Given the description of an element on the screen output the (x, y) to click on. 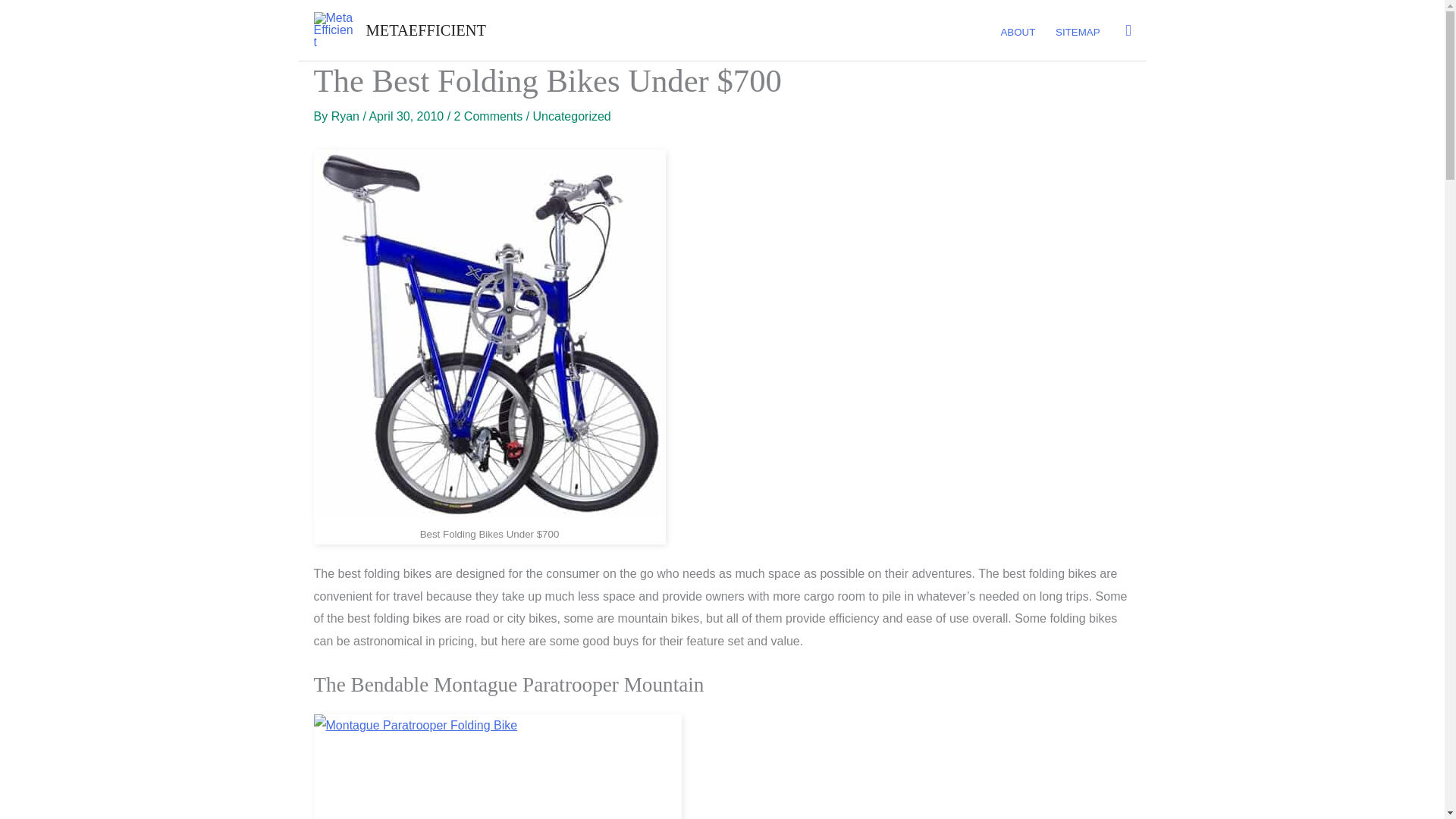
METAEFFICIENT (424, 30)
Uncategorized (571, 115)
View all posts by Ryan (346, 115)
Ryan (346, 115)
2 Comments (488, 115)
ABOUT (1017, 32)
SITEMAP (1077, 32)
